Given the description of an element on the screen output the (x, y) to click on. 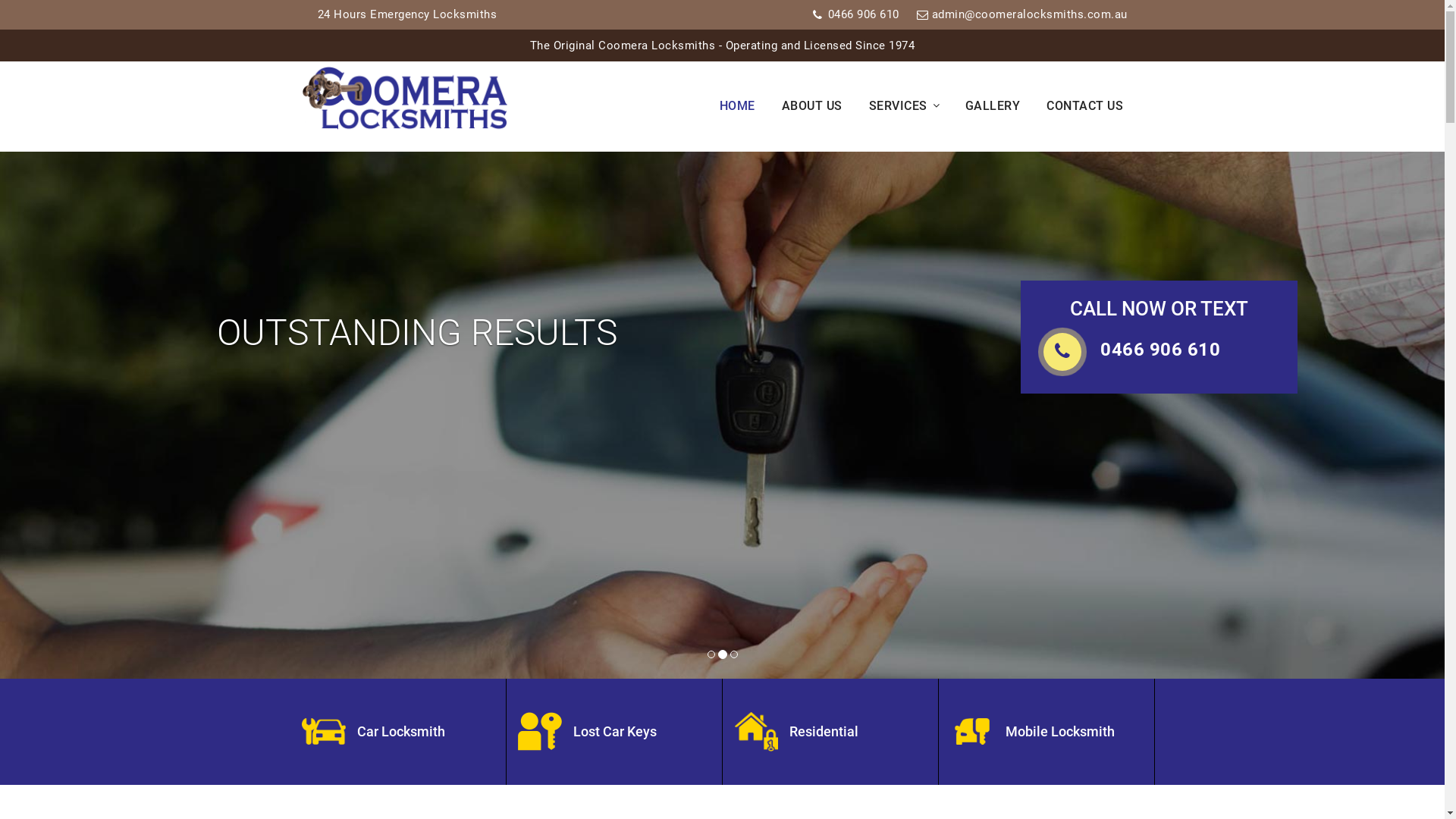
SERVICES Element type: text (913, 106)
GALLERY Element type: text (1002, 106)
0466 906 610 Element type: text (1160, 349)
ABOUT US Element type: text (821, 106)
0466 906 610 Element type: text (863, 14)
Automotive locksmiths Gold Coast Element type: hover (756, 731)
Mobile Locksmith Coomera Element type: hover (539, 731)
Automotive locksmiths Coomera Element type: hover (323, 731)
admin@coomeralocksmiths.com.au Element type: text (1028, 14)
Mobile Locksmiths Coomera Element type: hover (722, 414)
Mobile Locksmith Element type: text (1046, 731)
Residential Element type: text (829, 731)
CONTACT US Element type: text (1094, 106)
Automotive locksmiths Coomera Element type: hover (971, 731)
Car Locksmith Coomera Element type: hover (403, 97)
HOME Element type: text (746, 106)
Lost Car Keys Element type: text (614, 731)
Car Locksmith Element type: text (397, 731)
